Given the description of an element on the screen output the (x, y) to click on. 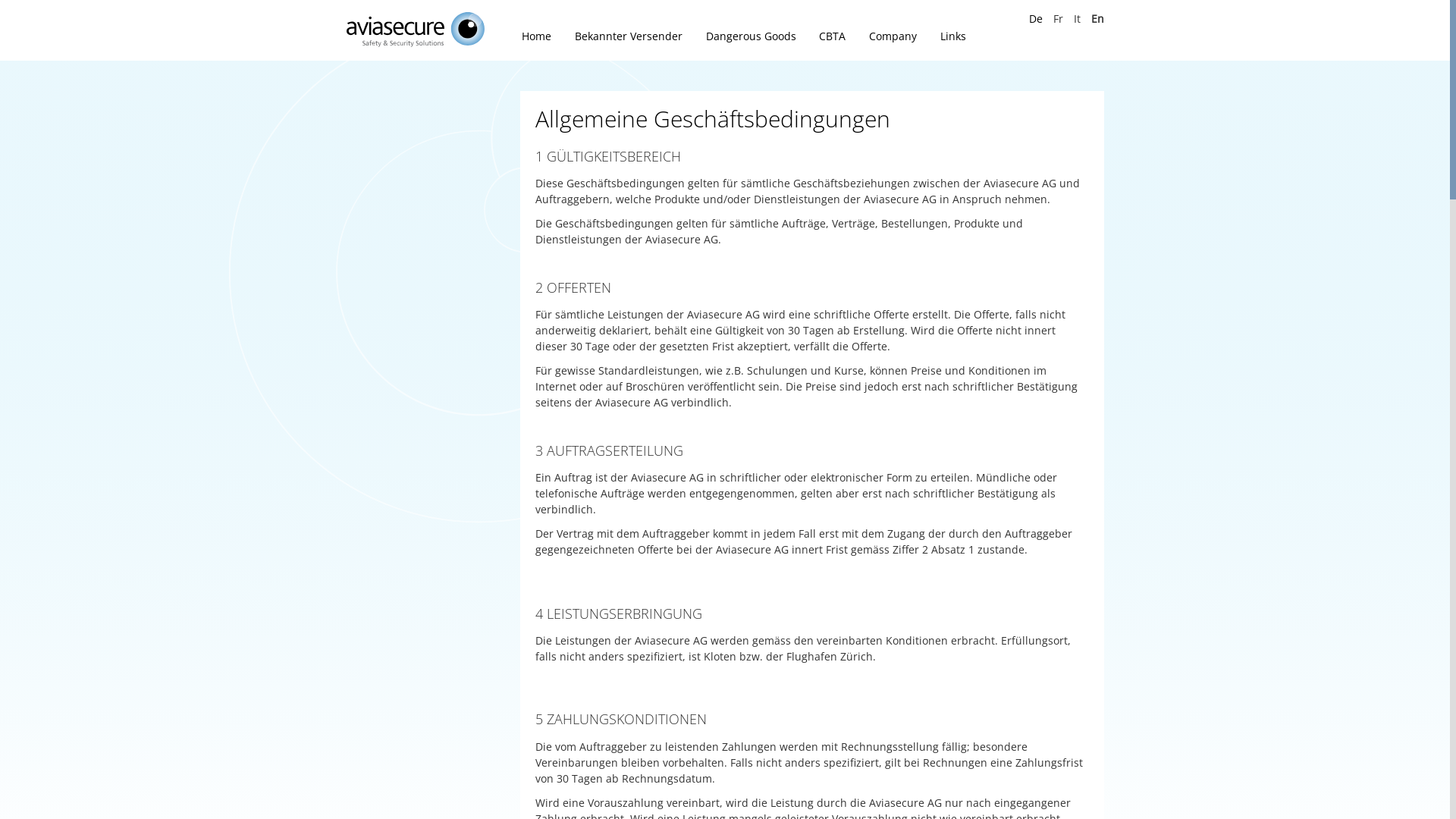
Home Element type: text (536, 35)
Links Element type: text (950, 35)
Company Element type: text (892, 35)
Dangerous Goods Element type: text (750, 35)
De Element type: text (1035, 18)
Bekannter Versender Element type: text (628, 35)
CBTA Element type: text (831, 35)
